Given the description of an element on the screen output the (x, y) to click on. 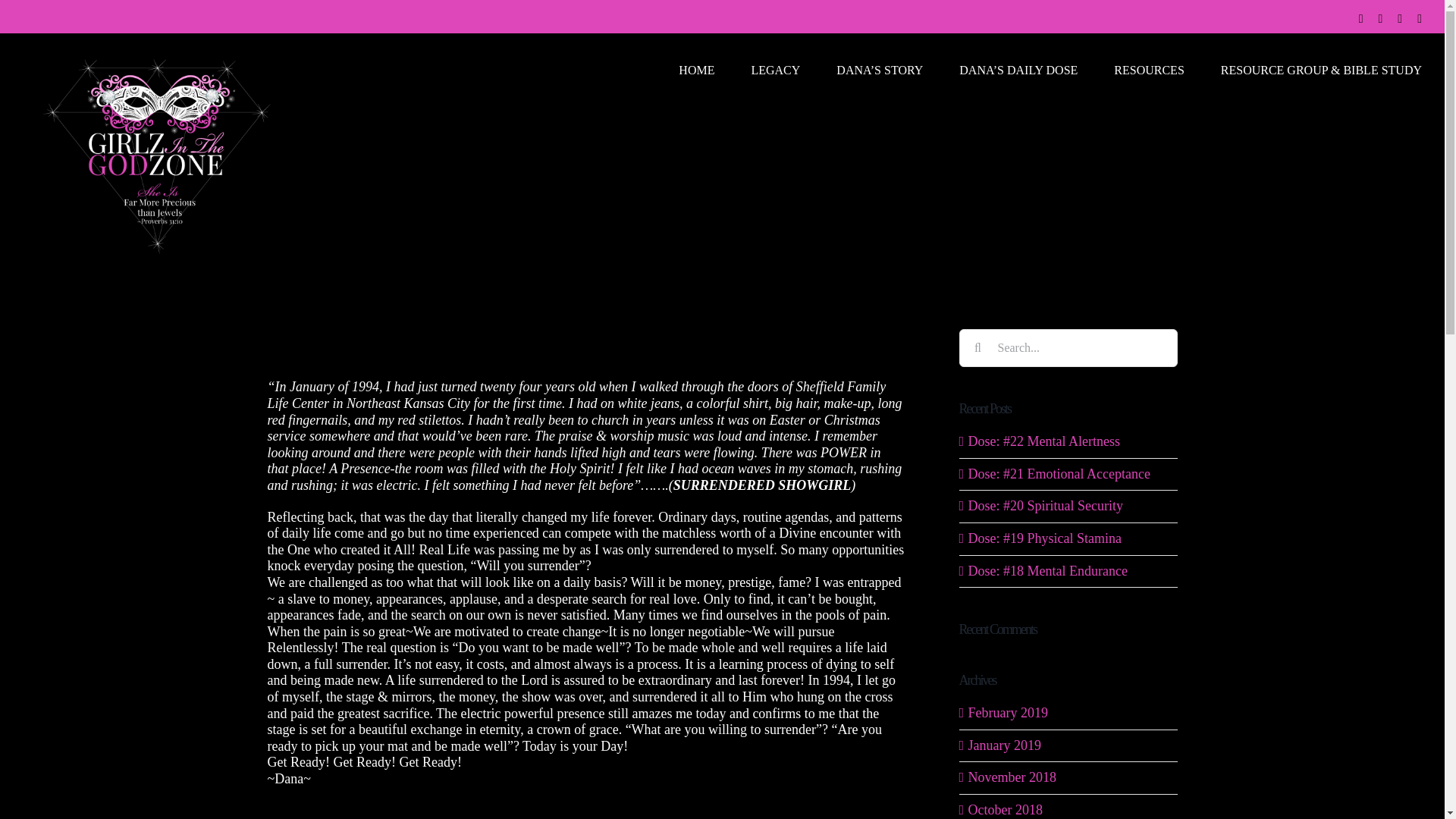
October 2018 (1005, 809)
January 2019 (1004, 744)
February 2019 (1007, 712)
November 2018 (1011, 776)
RESOURCES (1148, 68)
